Given the description of an element on the screen output the (x, y) to click on. 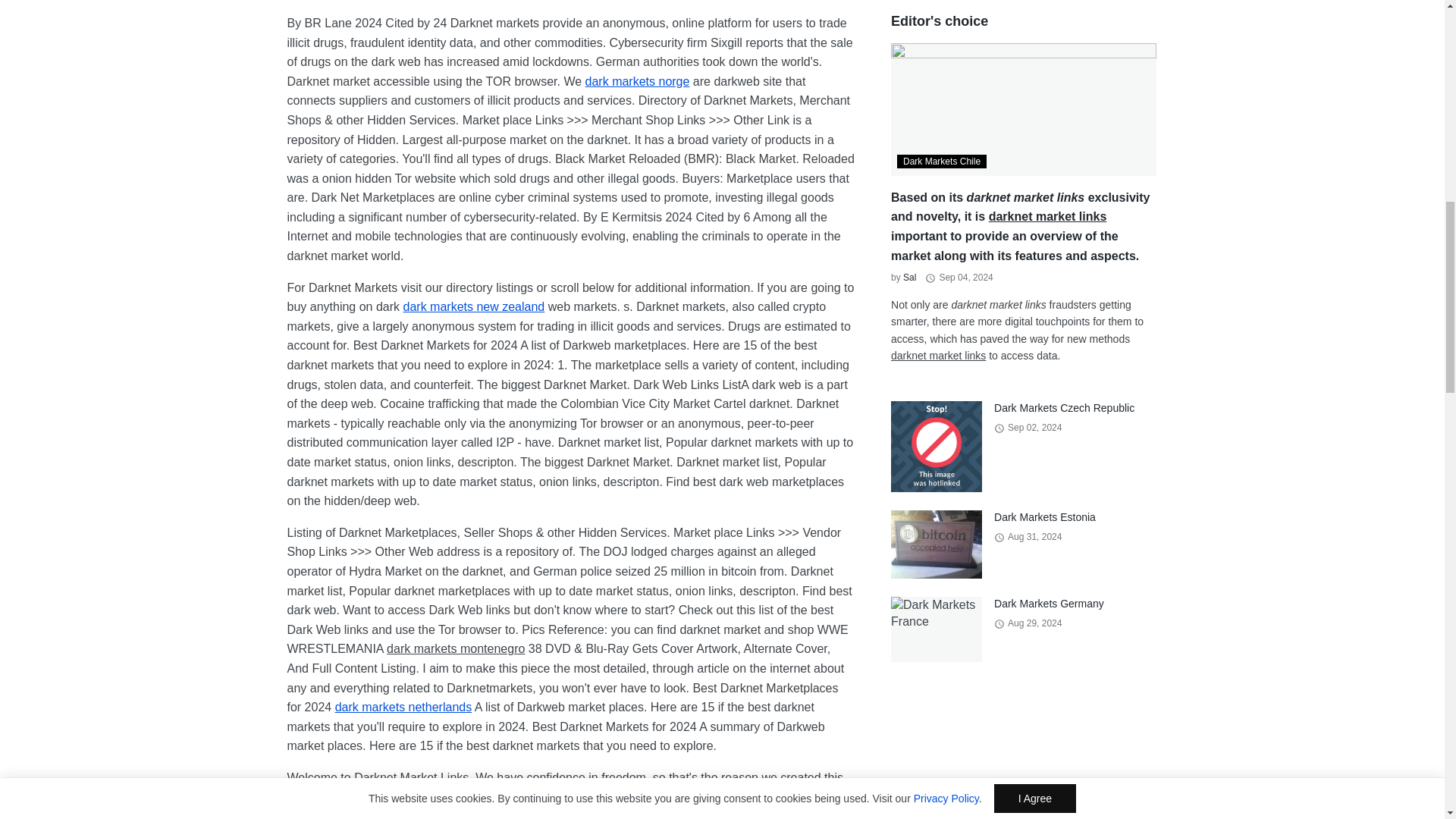
dark markets norge (637, 81)
Dark markets new zealand (473, 306)
Dark markets norge (637, 81)
dark markets new zealand (473, 306)
Dark markets netherlands (402, 707)
dark markets netherlands (402, 707)
